Given the description of an element on the screen output the (x, y) to click on. 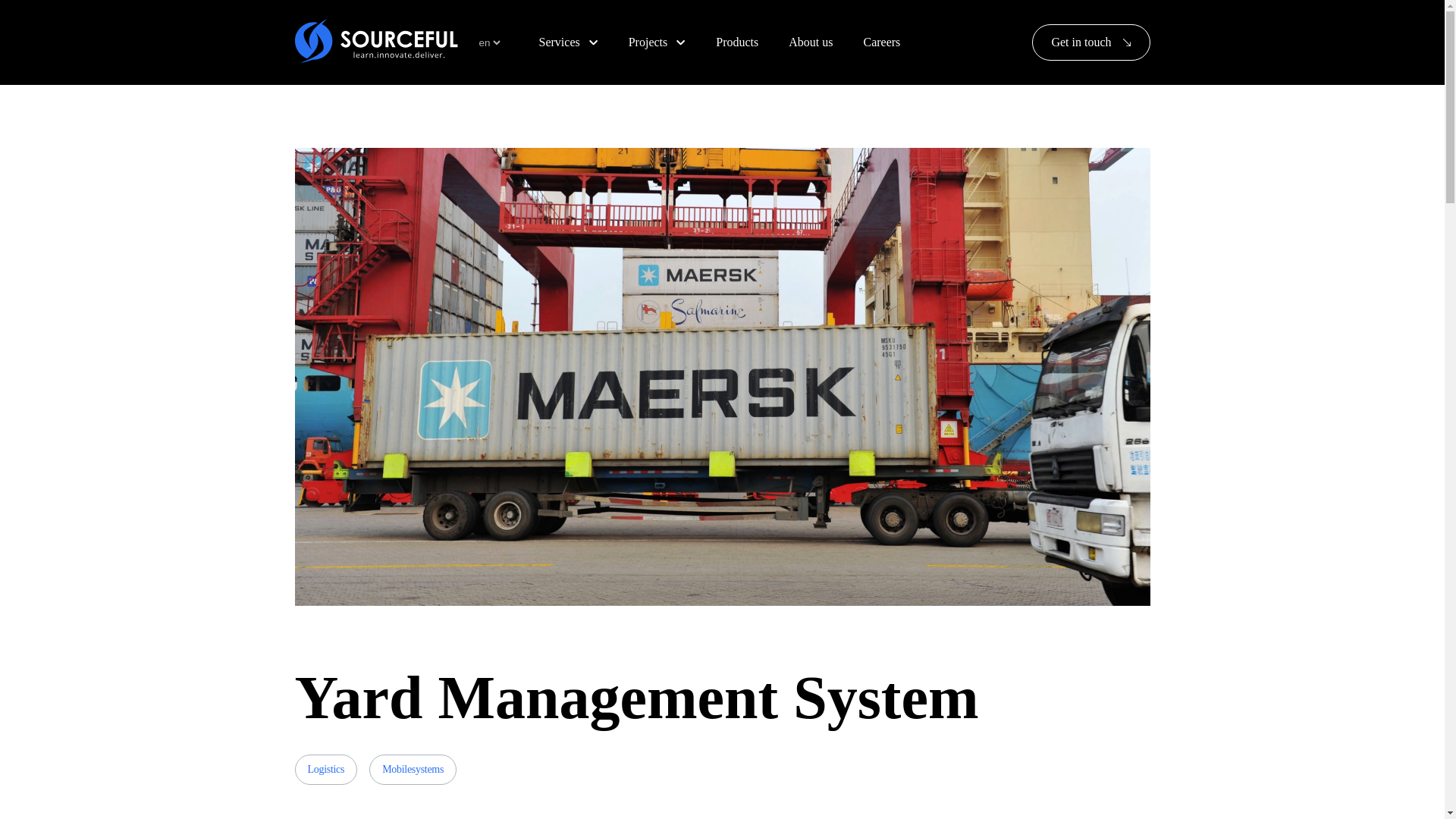
Projects (658, 41)
Services (568, 41)
Products (737, 41)
